Given the description of an element on the screen output the (x, y) to click on. 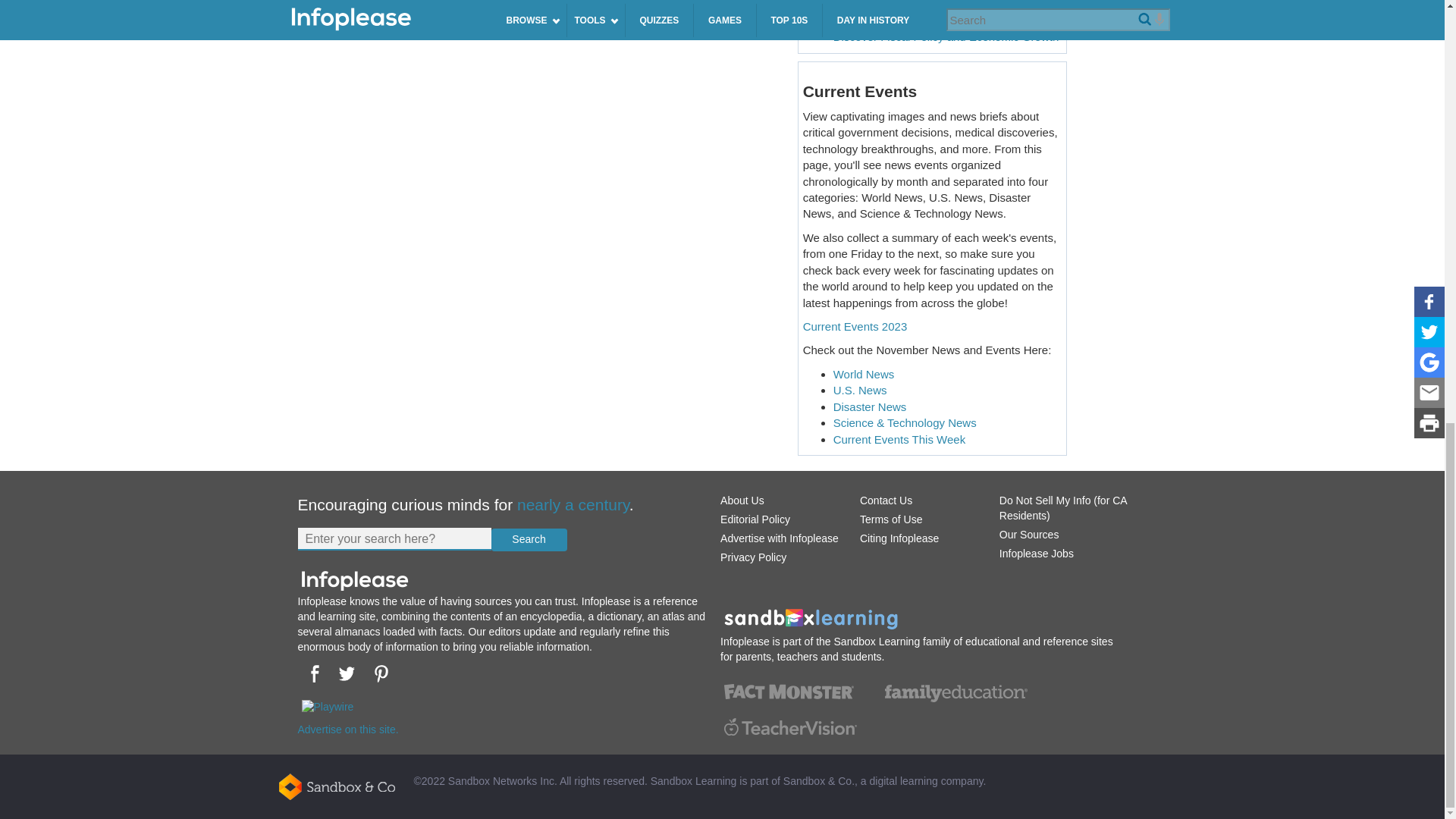
Search (529, 539)
